Given the description of an element on the screen output the (x, y) to click on. 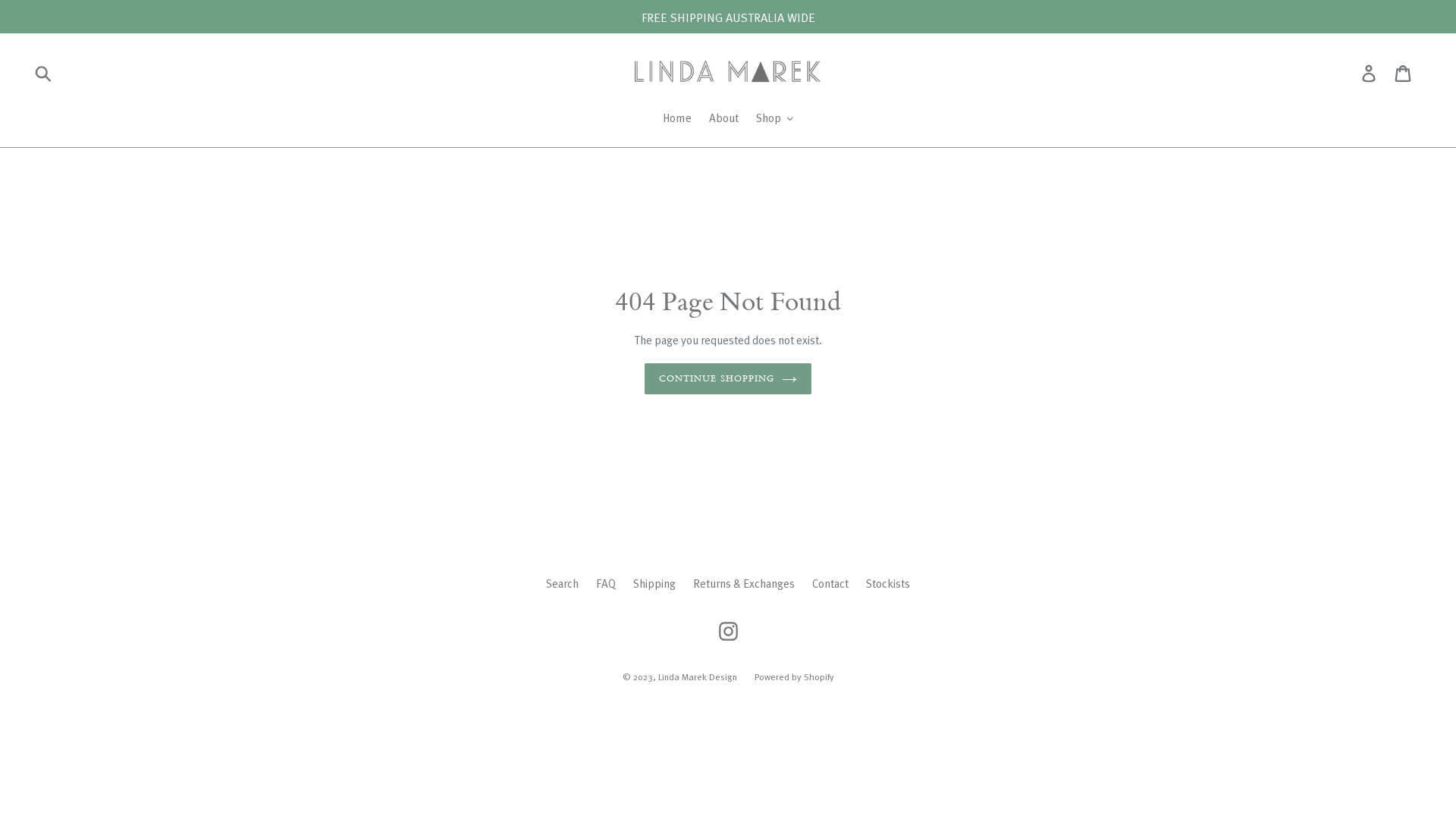
Cart Element type: text (1403, 73)
Contact Element type: text (830, 582)
Powered by Shopify Element type: text (793, 676)
Shipping Element type: text (654, 582)
Submit Element type: text (43, 72)
Log in Element type: text (1369, 73)
FAQ Element type: text (605, 582)
Instagram Element type: text (727, 630)
Linda Marek Design Element type: text (697, 676)
Search Element type: text (562, 582)
About Element type: text (723, 118)
Home Element type: text (677, 118)
CONTINUE SHOPPING Element type: text (727, 379)
Stockists Element type: text (888, 582)
Returns & Exchanges Element type: text (743, 582)
